Given the description of an element on the screen output the (x, y) to click on. 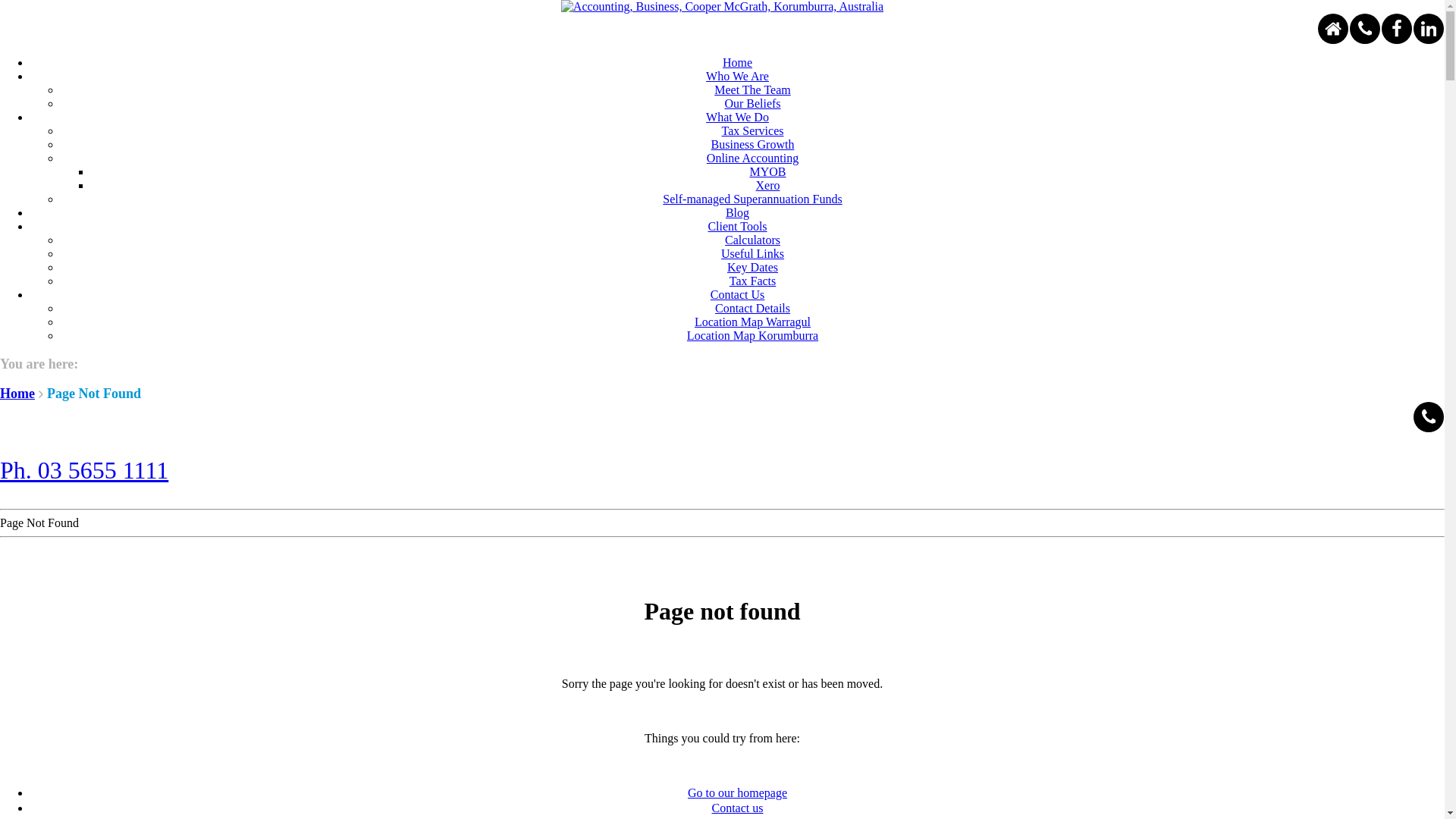
Contact us Element type: text (736, 807)
Meet The Team Element type: text (752, 89)
Tax Services Element type: text (752, 130)
https://www.linkedin.com/company/cooper-mcgrath Element type: text (1428, 28)
https://www.facebook.com/coopermcgrath01/ Element type: text (1396, 28)
home Element type: text (1332, 28)
Client Tools Element type: text (736, 225)
Key Dates Element type: text (752, 266)
contact_us/contact_details Element type: text (1428, 416)
Business Growth Element type: text (752, 144)
Contact Us Element type: text (737, 294)
Tax Facts Element type: text (752, 280)
Useful Links Element type: text (752, 253)
Our Beliefs Element type: text (752, 103)
Location Map Warragul Element type: text (752, 321)
Contact Details Element type: text (752, 307)
Self-managed Superannuation Funds Element type: text (751, 198)
Calculators Element type: text (752, 239)
Xero Element type: text (767, 184)
MYOB Element type: text (767, 171)
What We Do Element type: text (737, 116)
Online Accounting Element type: text (752, 157)
contact_us/contact_details Element type: text (1364, 28)
Home Element type: text (17, 393)
Home Element type: text (737, 62)
Ph. 03 5655 1111 Element type: text (84, 469)
Go to our homepage Element type: text (737, 792)
Who We Are Element type: text (737, 75)
Location Map Korumburra Element type: text (752, 335)
Blog Element type: text (737, 212)
